Given the description of an element on the screen output the (x, y) to click on. 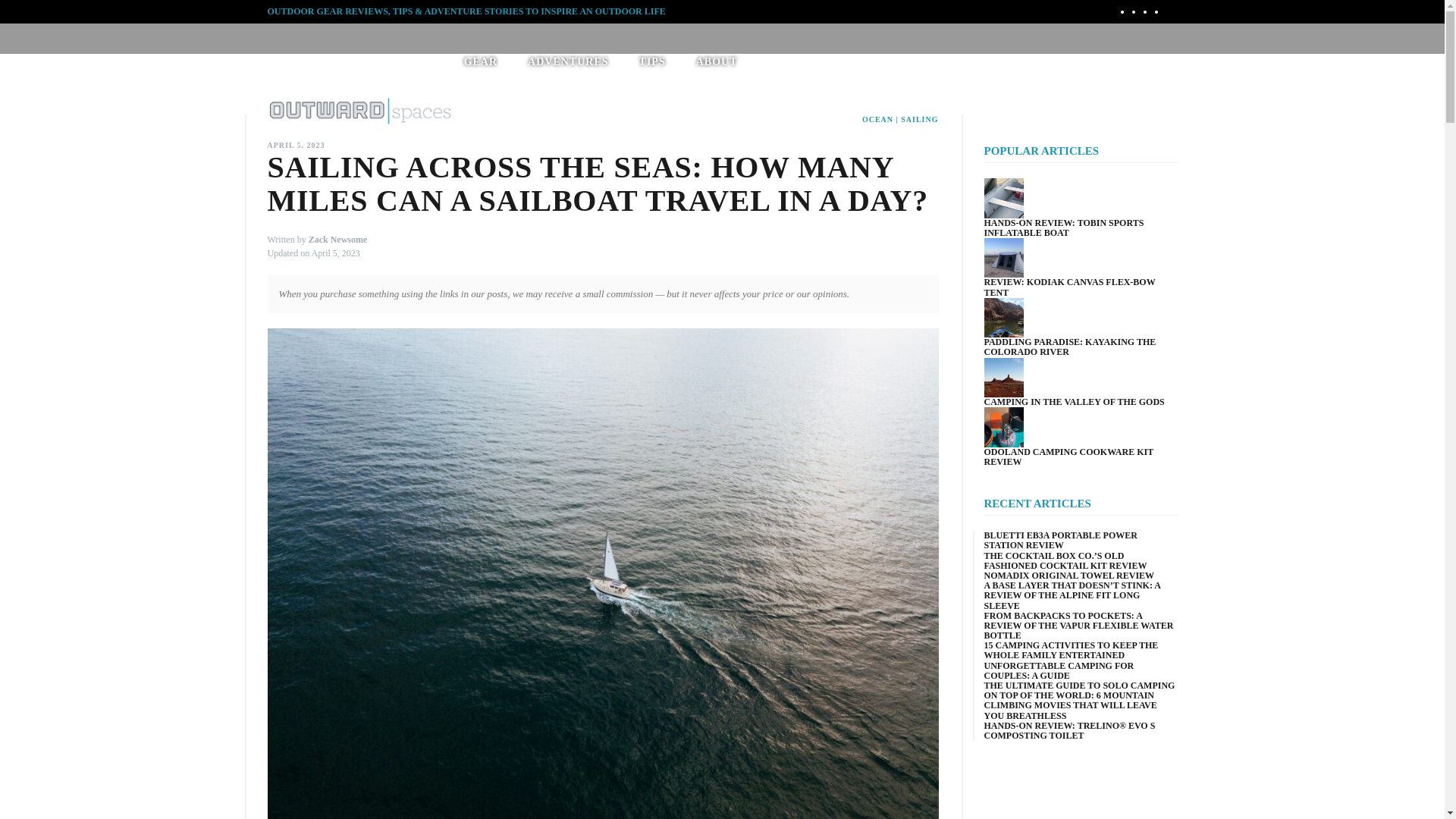
OCEAN (877, 119)
ADVENTURES (567, 61)
SAILING (919, 119)
